Given the description of an element on the screen output the (x, y) to click on. 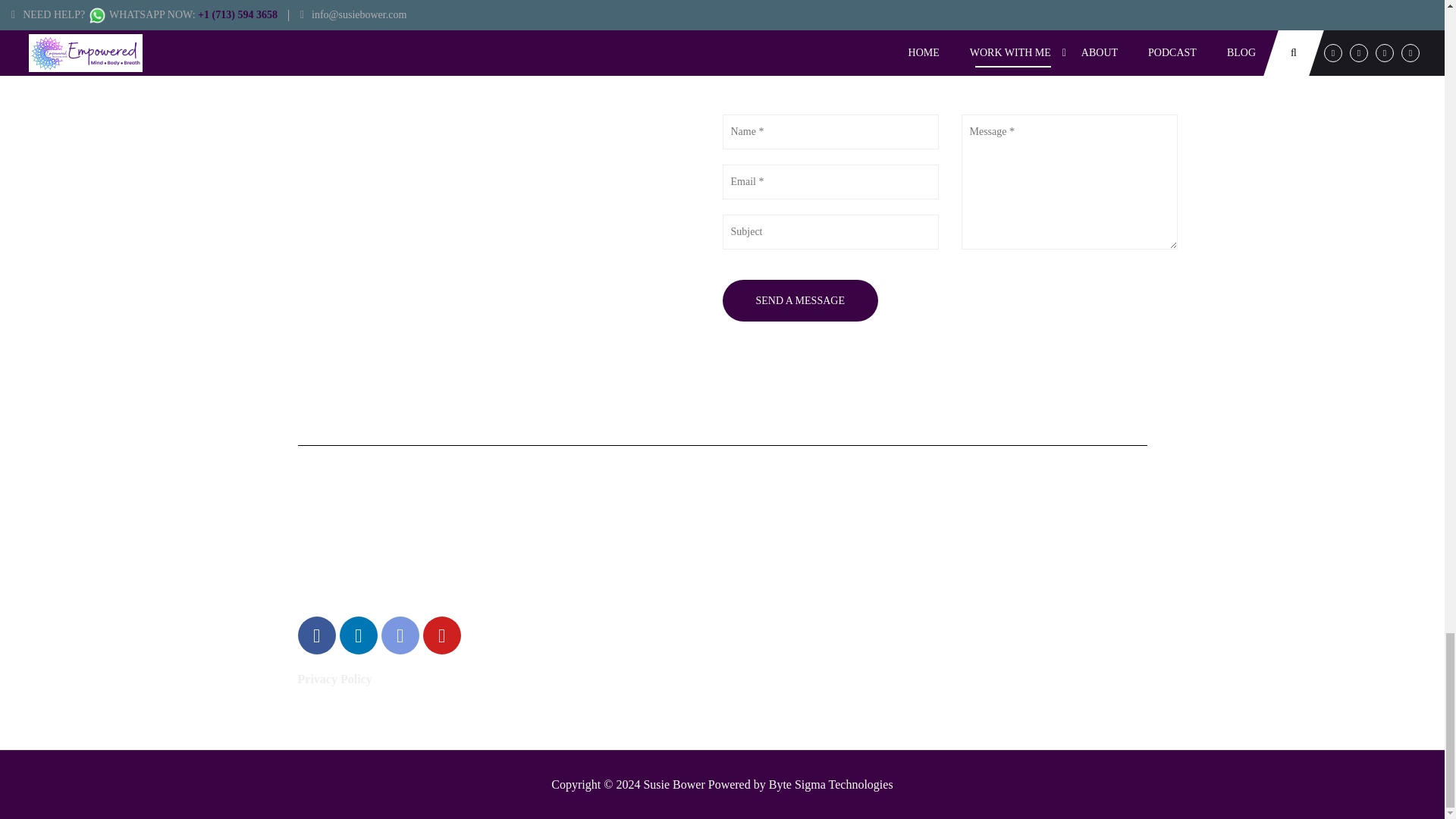
Send A Message (799, 300)
ABMP-Logo (612, 631)
PFT (793, 532)
Print (593, 532)
neurofit-trainer-badge-white (912, 631)
